Given the description of an element on the screen output the (x, y) to click on. 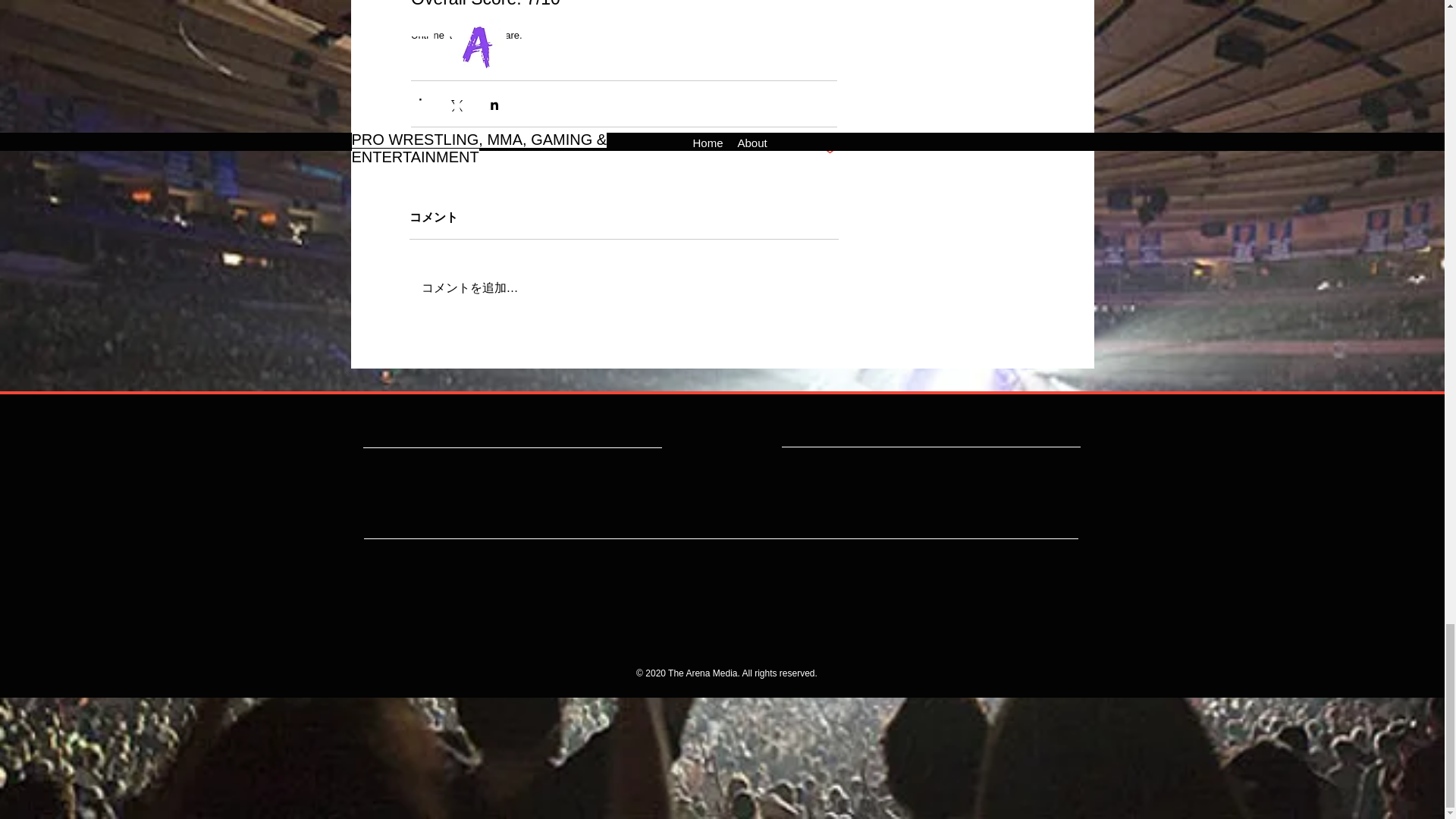
Post not marked as liked (828, 148)
